Given the description of an element on the screen output the (x, y) to click on. 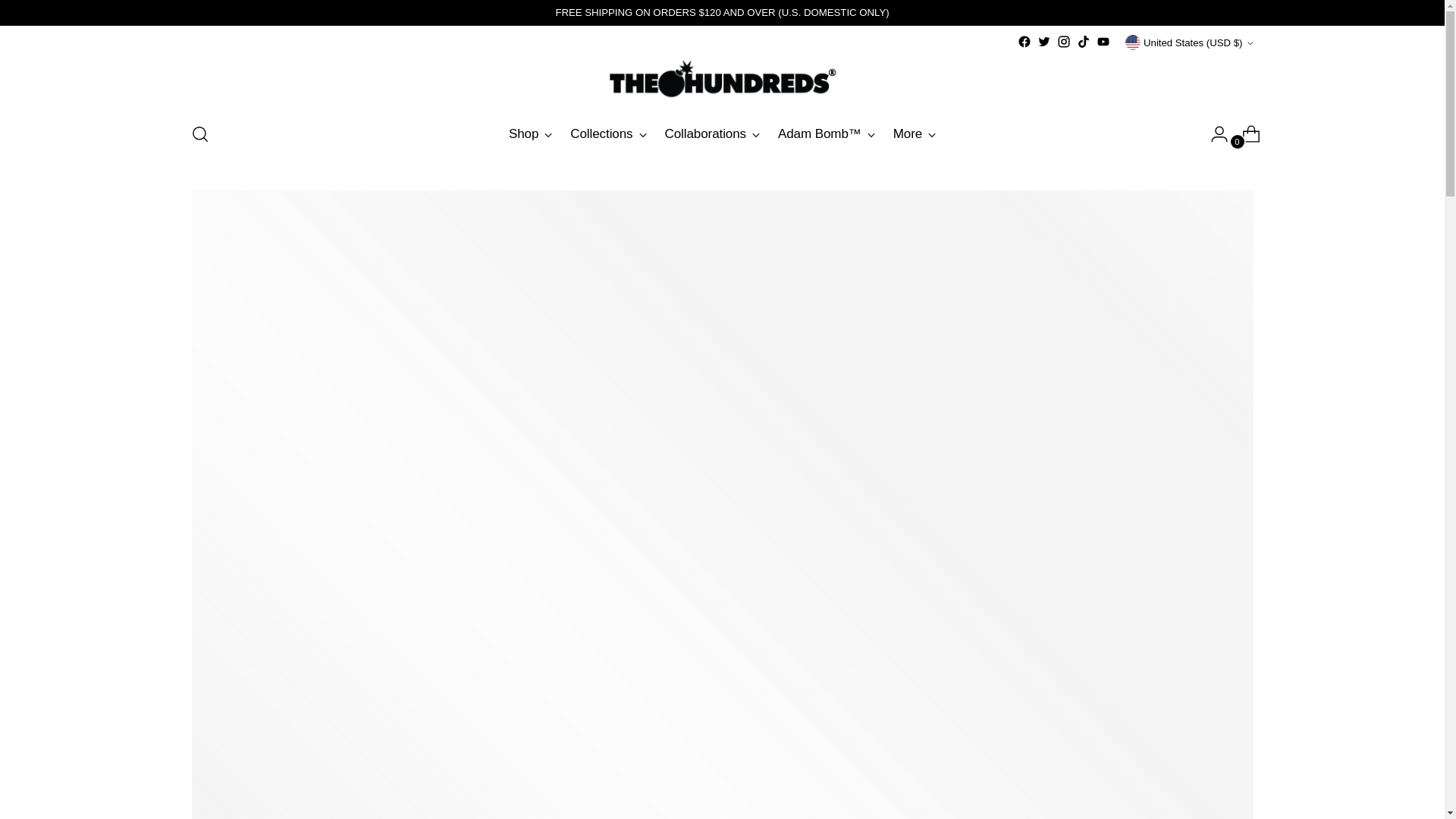
The Hundreds on Tiktok (1083, 41)
The Hundreds on Instagram (1063, 41)
The Hundreds on YouTube (1102, 41)
The Hundreds on Twitter (1043, 41)
The Hundreds on Facebook (1023, 41)
